Given the description of an element on the screen output the (x, y) to click on. 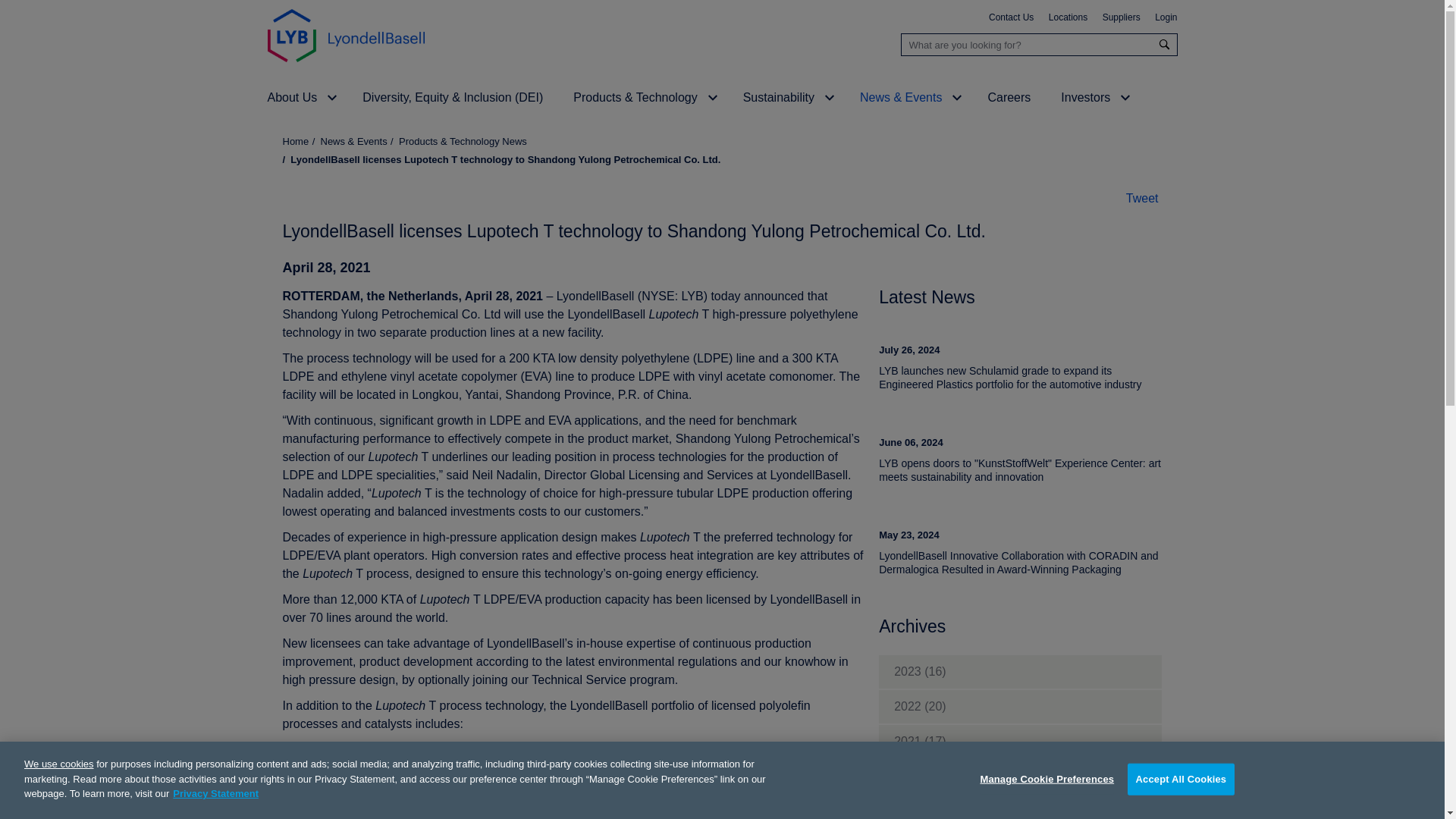
About Us (291, 97)
Login (1165, 18)
search (1164, 43)
Sustainability (777, 97)
Suppliers (1121, 18)
Locations (1067, 18)
Contact Us (1010, 18)
